Given the description of an element on the screen output the (x, y) to click on. 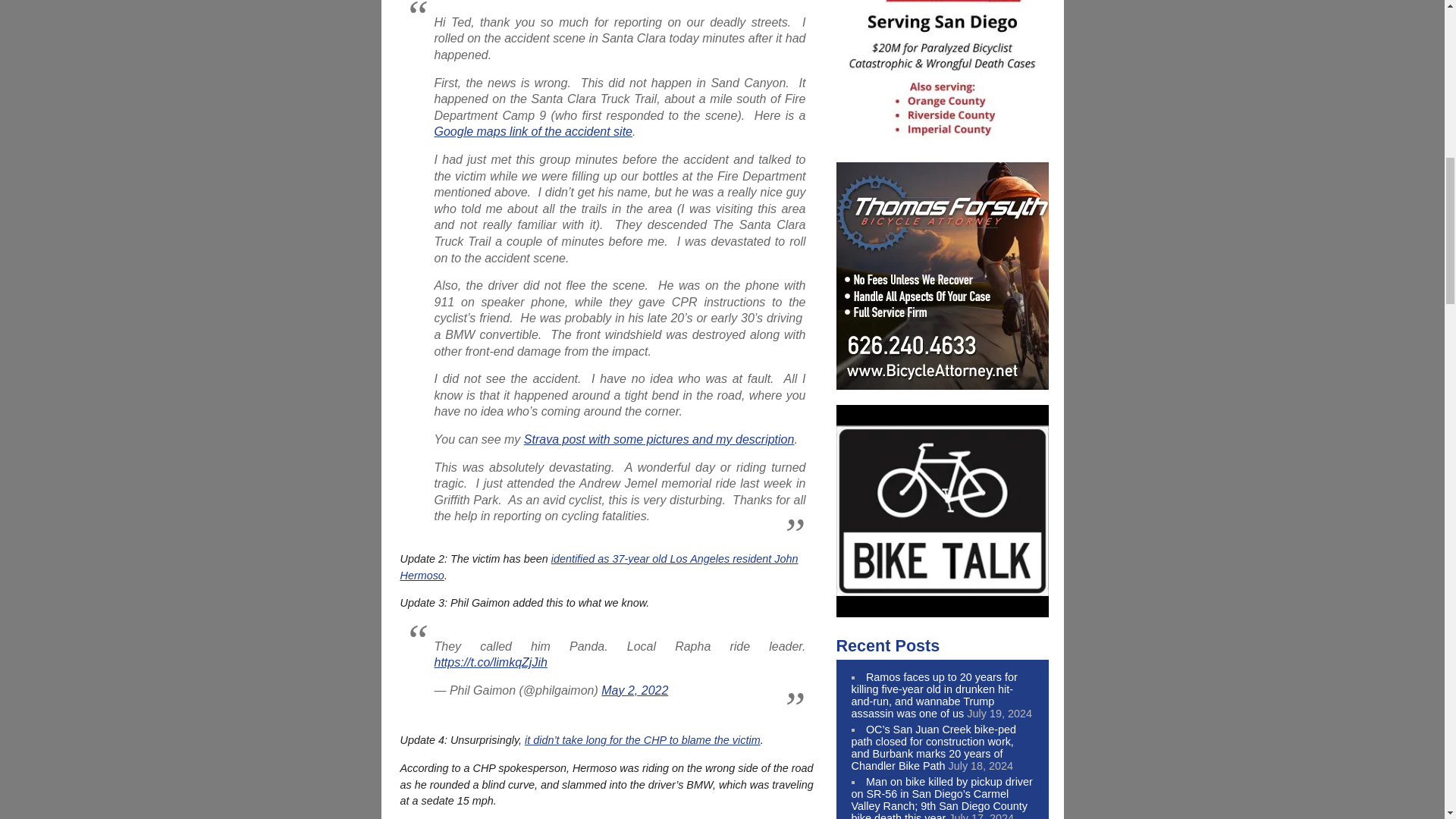
May 2, 2022 (634, 689)
identified as 37-year old Los Angeles resident John Hermoso (598, 566)
Google maps link of the accident site (532, 131)
Strava post with some pictures and my description (659, 439)
